Given the description of an element on the screen output the (x, y) to click on. 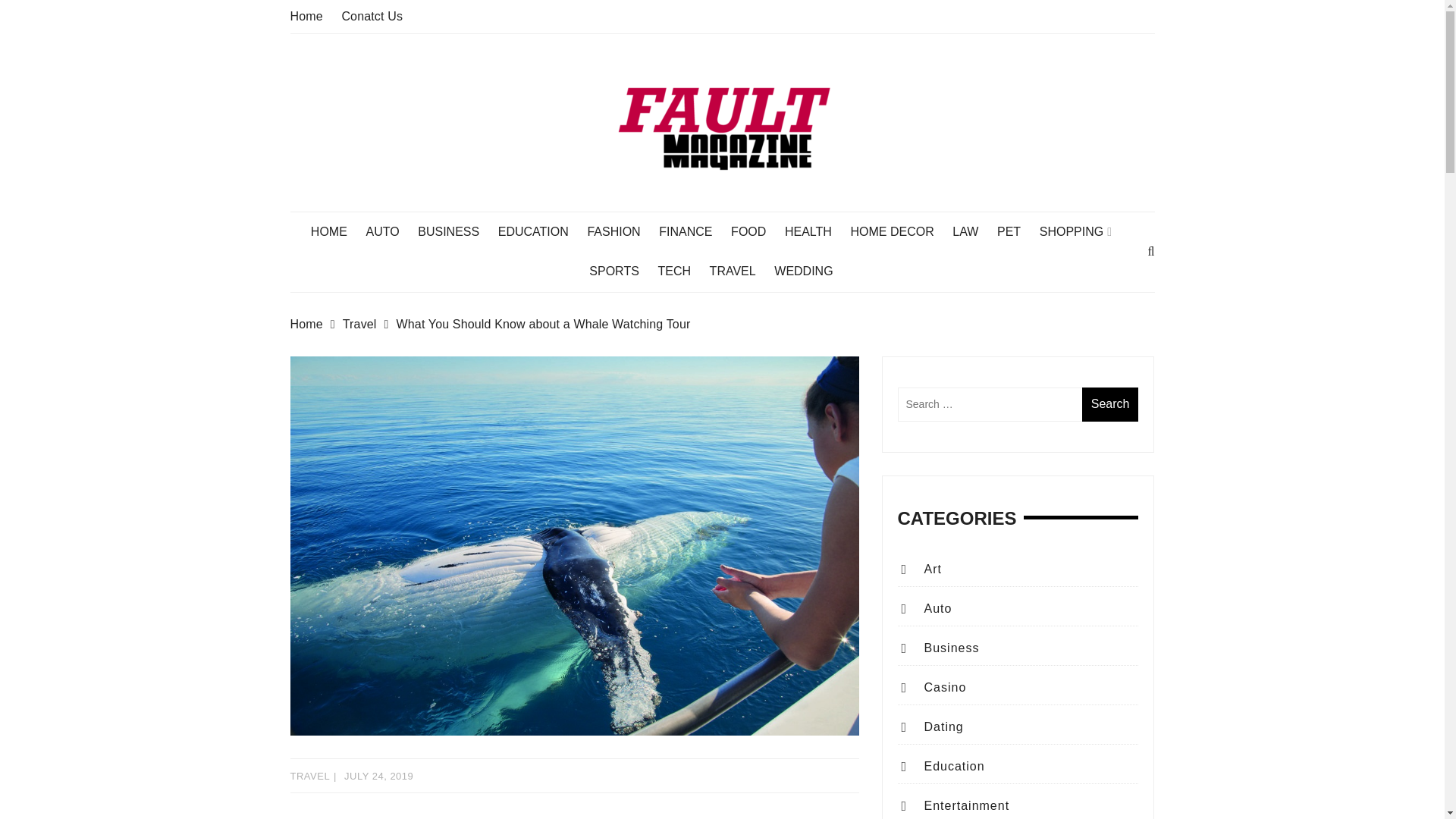
TECH (682, 271)
Home (315, 324)
SHOPPING (1082, 231)
Conatct Us (371, 16)
TRAVEL (740, 271)
PET (1016, 231)
HOME DECOR (899, 231)
FASHION (620, 231)
TRAVEL (309, 776)
Search (1109, 404)
